Given the description of an element on the screen output the (x, y) to click on. 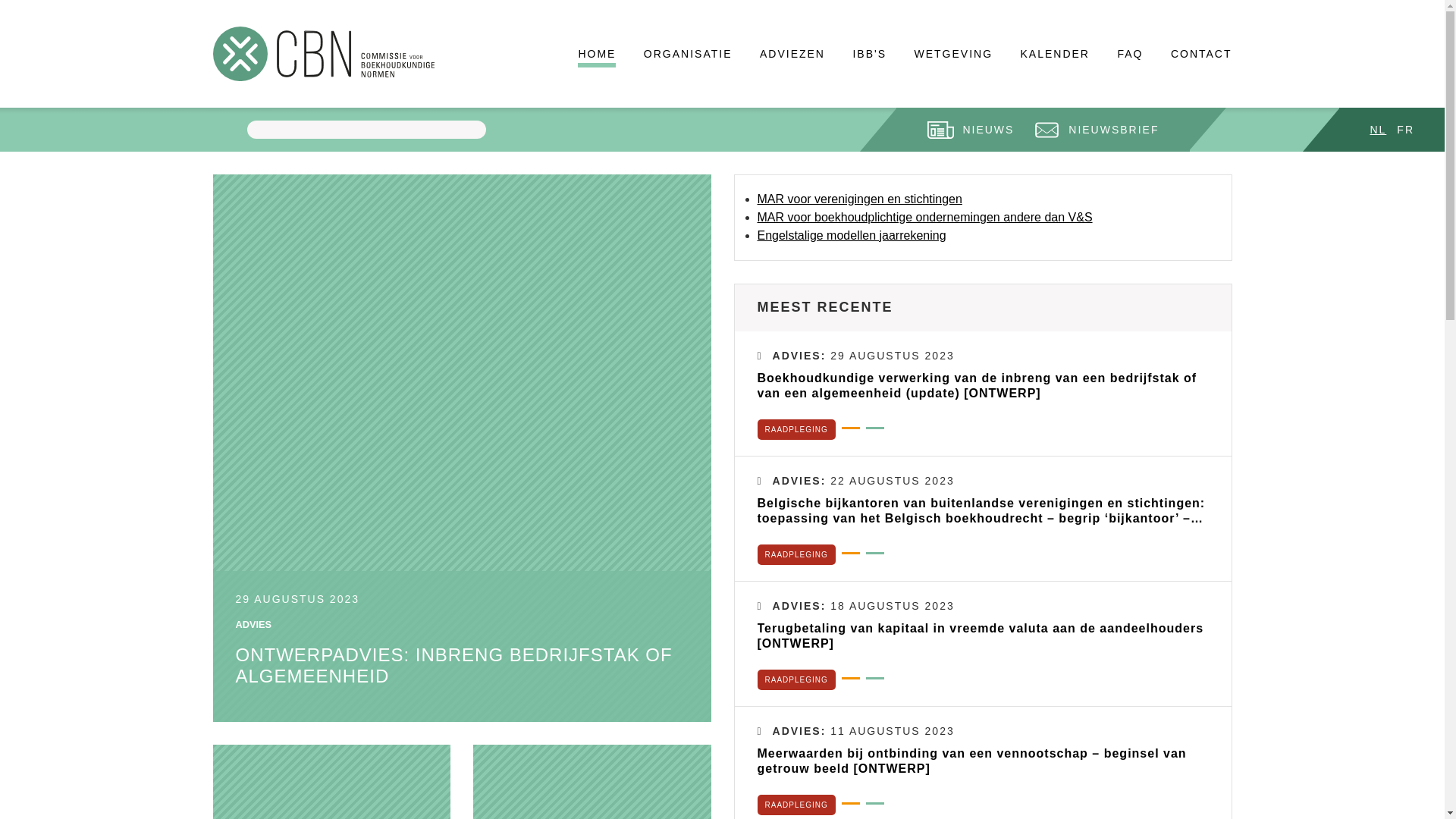
FR Element type: text (1405, 129)
ADVIEZEN Element type: text (792, 55)
Skip to main content Element type: text (0, 0)
KALENDER Element type: text (1053, 55)
MAR voor verenigingen en stichtingen Element type: text (858, 198)
IBB'S Element type: text (869, 55)
ONTWERPADVIES: INBRENG BEDRIJFSTAK OF ALGEMEENHEID Element type: text (453, 665)
NIEUWS Element type: text (969, 130)
HOME Element type: text (596, 56)
FAQ Element type: text (1129, 55)
NIEUWSBRIEF Element type: text (1095, 130)
MAR voor boekhoudplichtige ondernemingen andere dan V&S Element type: text (924, 216)
WETGEVING Element type: text (952, 55)
Engelstalige modellen jaarrekening Element type: text (850, 235)
CONTACT Element type: text (1201, 55)
ORGANISATIE Element type: text (687, 55)
Apply Element type: text (226, 130)
NL Element type: text (1377, 129)
